Given the description of an element on the screen output the (x, y) to click on. 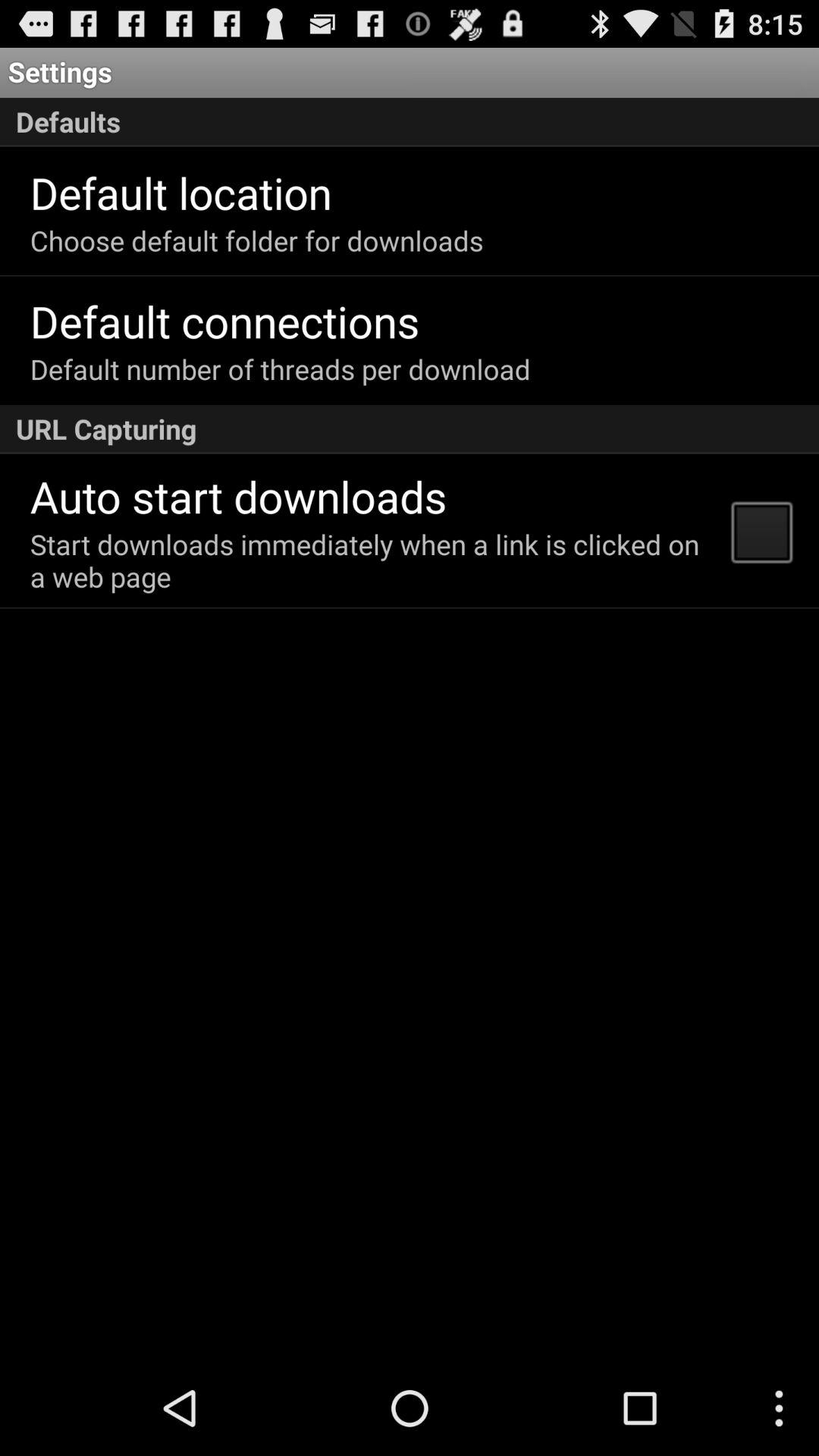
tap the defaults (409, 121)
